Given the description of an element on the screen output the (x, y) to click on. 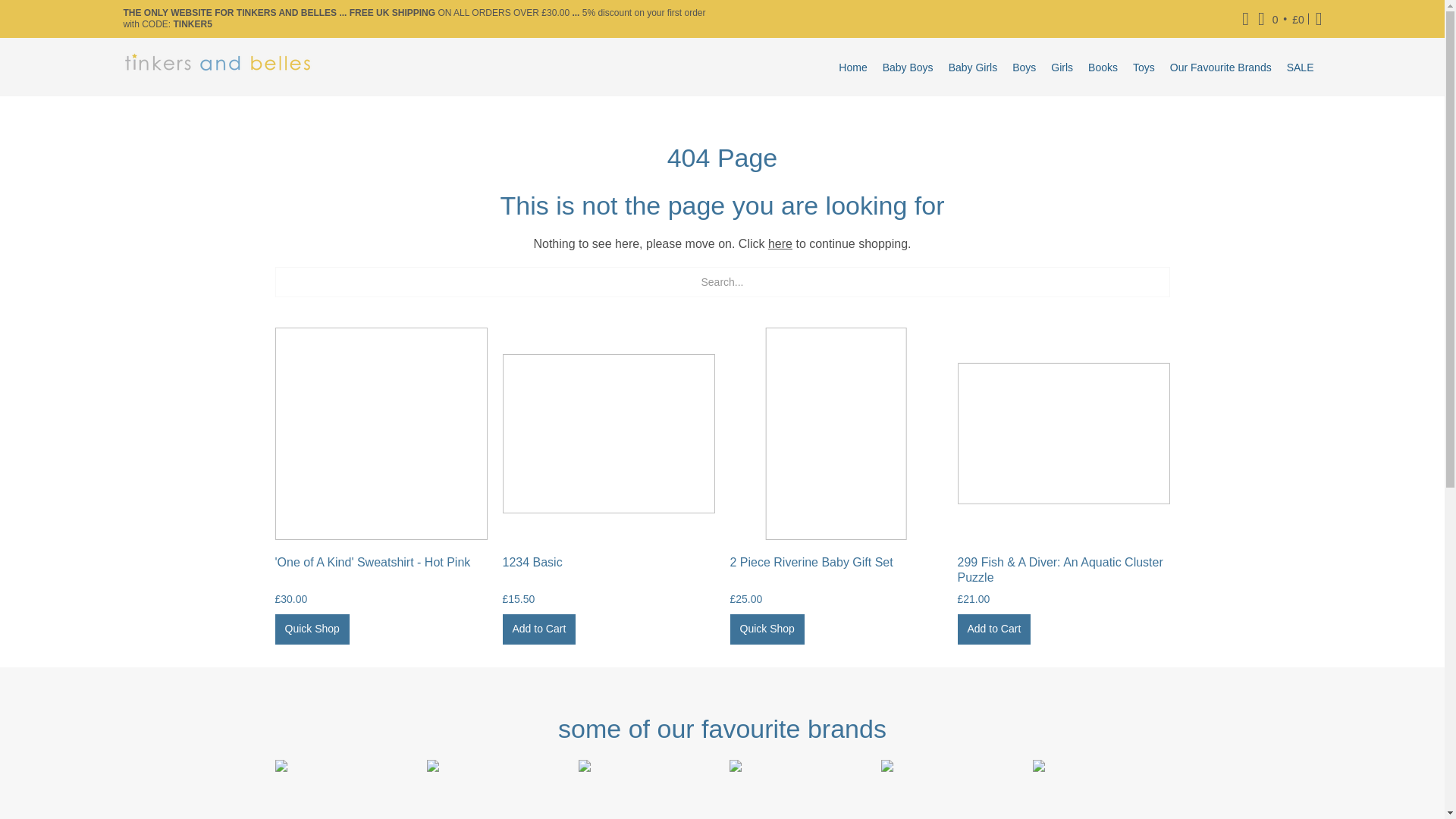
Add to Cart (538, 629)
Cart (1280, 18)
Add to Cart (993, 629)
tinkers and belles (217, 66)
Baby Girls (973, 66)
Baby Boys (907, 66)
Baby Girls (973, 66)
Baby Boys (907, 66)
